Given the description of an element on the screen output the (x, y) to click on. 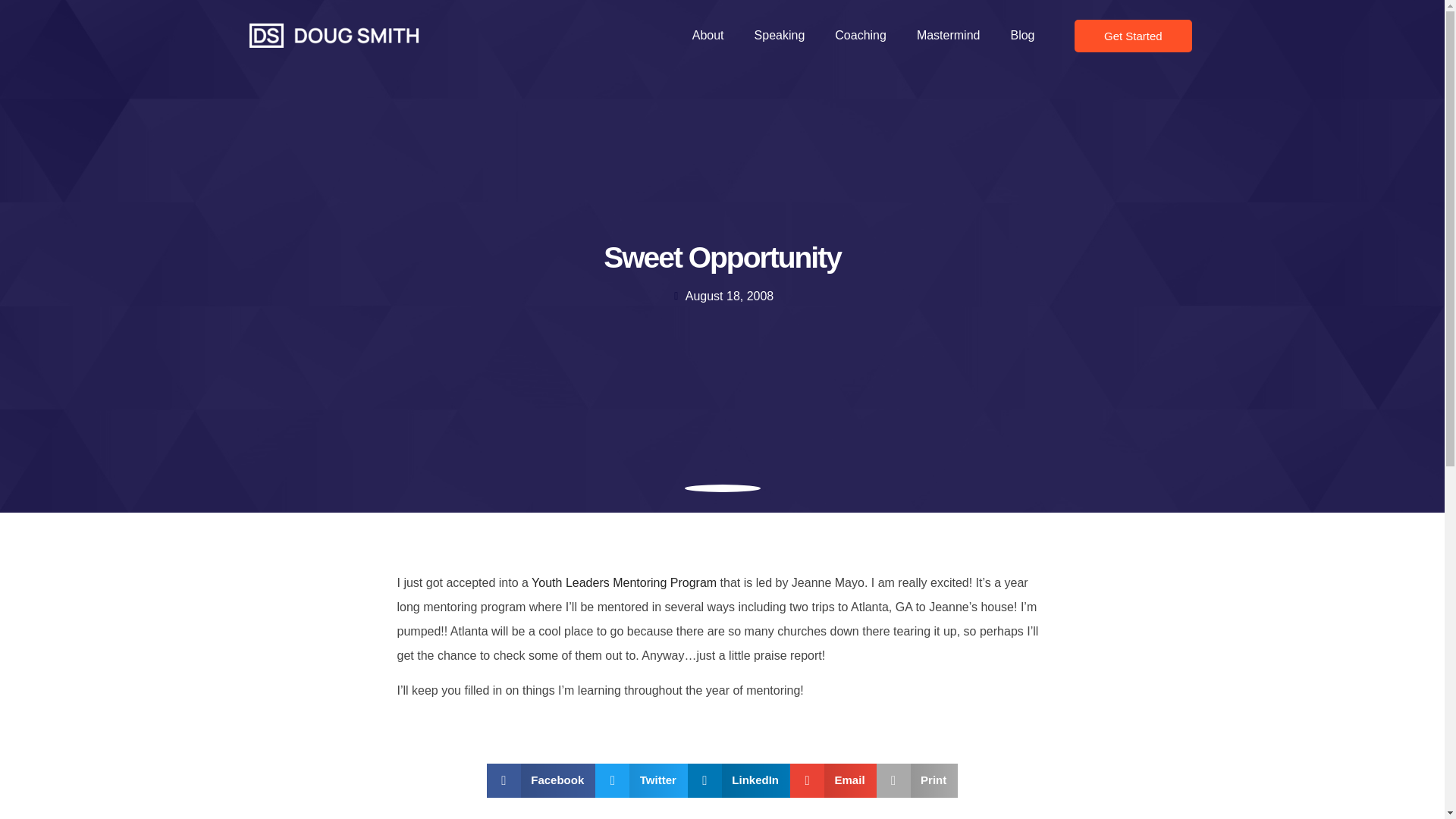
Doug-Smith-Logo (333, 35)
Mastermind (948, 35)
August 18, 2008 (722, 295)
Coaching (860, 35)
Speaking (780, 35)
Blog (1021, 35)
Get Started (1133, 35)
Youth Leaders Mentoring Program (625, 582)
About (708, 35)
